Given the description of an element on the screen output the (x, y) to click on. 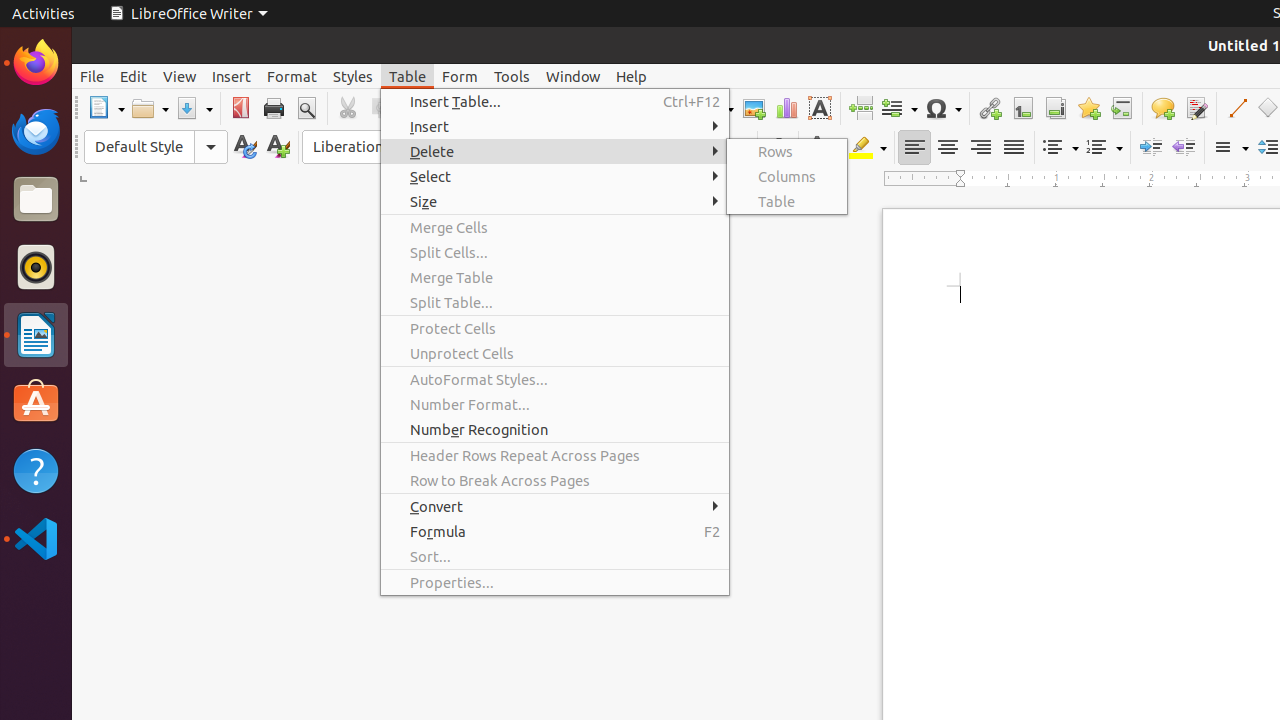
Merge Cells Element type: menu-item (555, 227)
Image Element type: push-button (753, 108)
Properties... Element type: menu-item (555, 582)
Split Cells... Element type: menu-item (555, 252)
AutoFormat Styles... Element type: menu-item (555, 379)
